Given the description of an element on the screen output the (x, y) to click on. 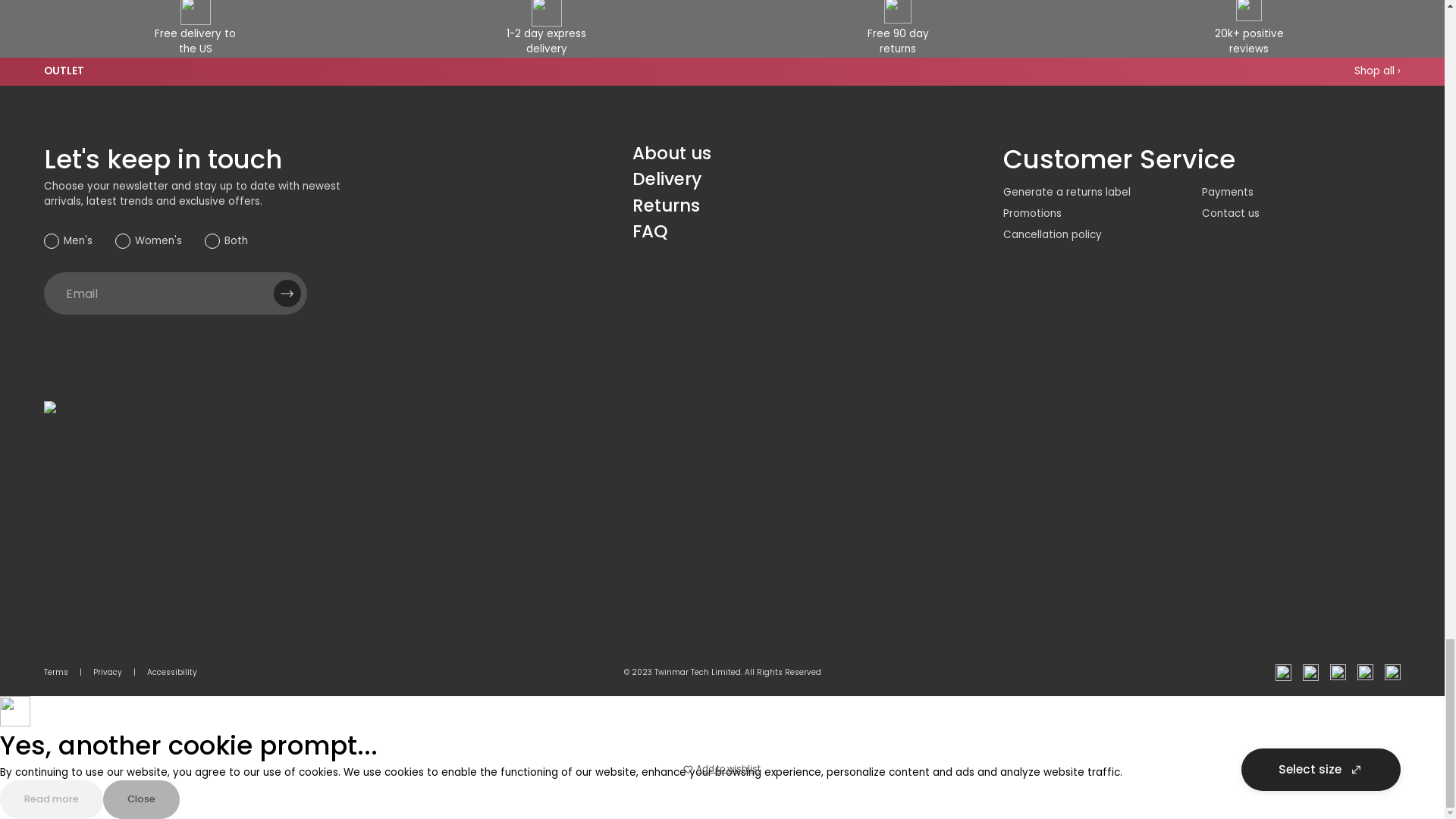
FAQ (649, 231)
Delivery (666, 178)
Promotions (1032, 213)
About us (671, 152)
Generate a returns label (1067, 192)
Contact us (1230, 213)
Payments (1227, 192)
Subscribe (287, 293)
Returns (665, 205)
